Given the description of an element on the screen output the (x, y) to click on. 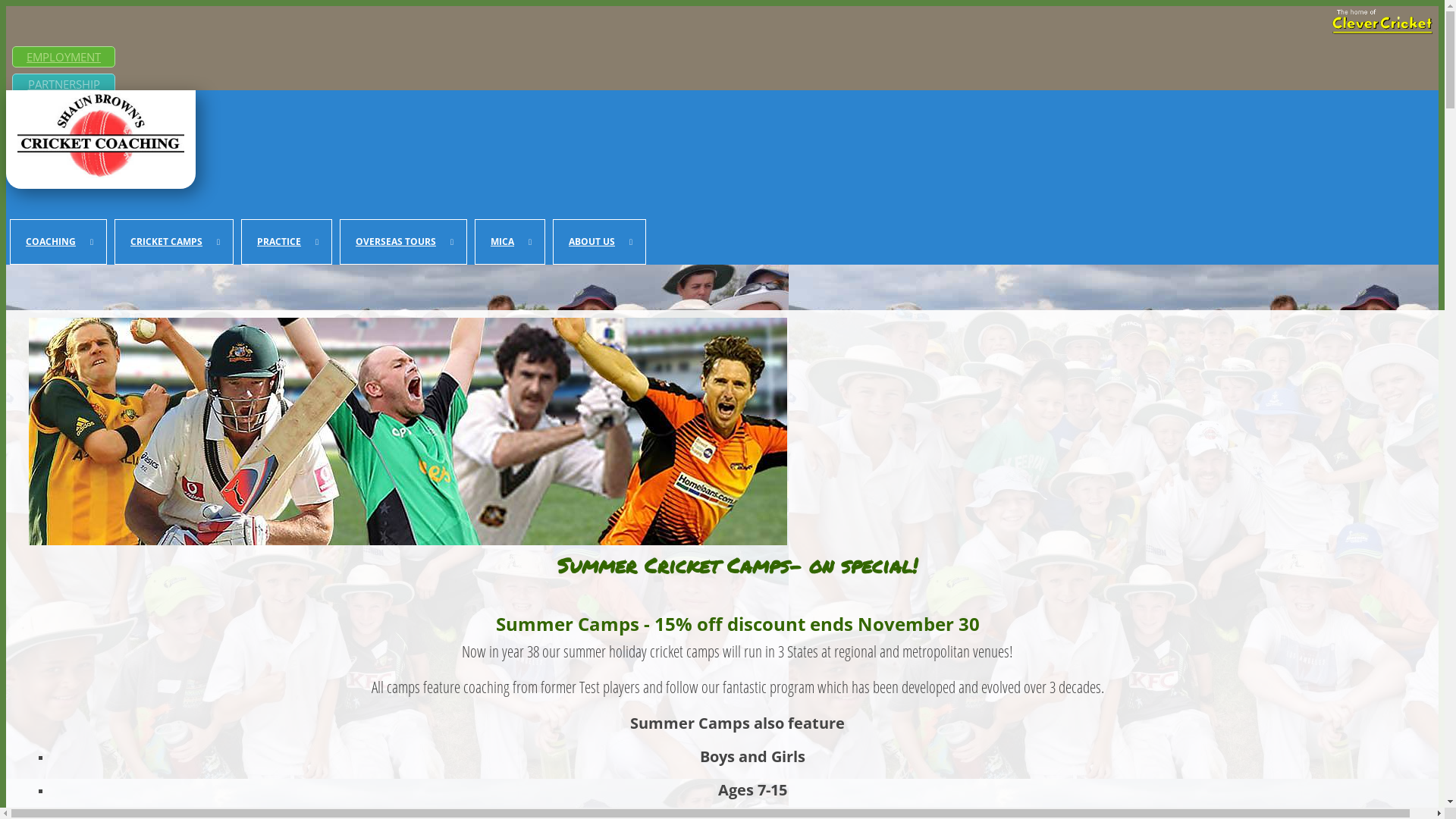
CRICKET CAMPS Element type: text (173, 241)
Call (03) 9464 6664 today! Element type: hover (18, 110)
Skip to main content Element type: text (58, 6)
  Element type: text (38, 110)
We are on Facebook Element type: hover (38, 110)
The Home Of Clever Cricket Element type: hover (1381, 23)
0 Element type: text (96, 110)
  Element type: text (56, 110)
ABOUT US Element type: text (599, 241)
PARTNERSHIP Element type: text (63, 83)
COACHING Element type: text (57, 241)
MICA Element type: text (509, 241)
OVERSEAS TOURS Element type: text (403, 241)
EMPLOYMENT Element type: text (63, 56)
PRACTICE Element type: text (286, 241)
  Element type: text (18, 110)
